Given the description of an element on the screen output the (x, y) to click on. 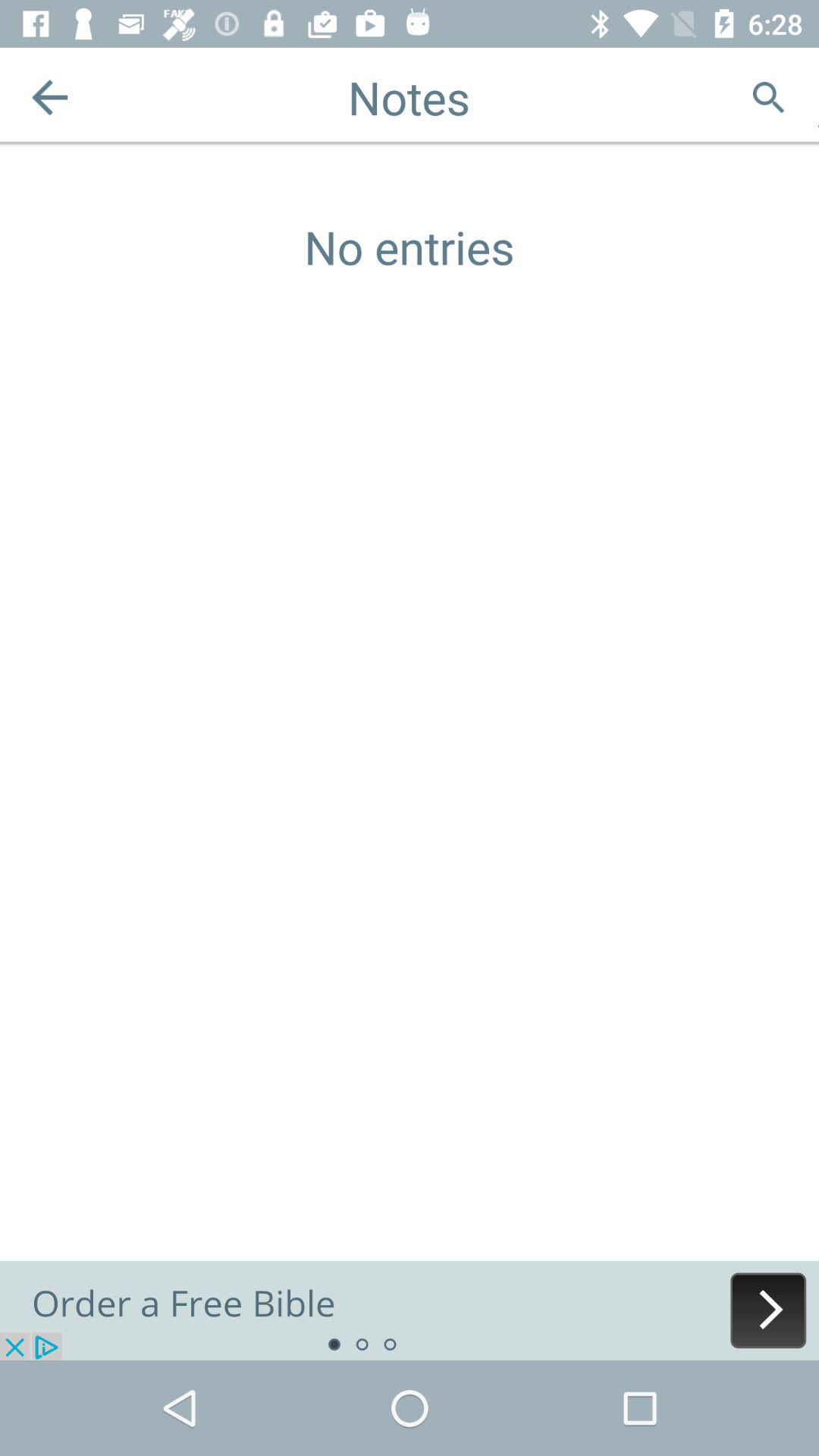
go back (49, 97)
